Given the description of an element on the screen output the (x, y) to click on. 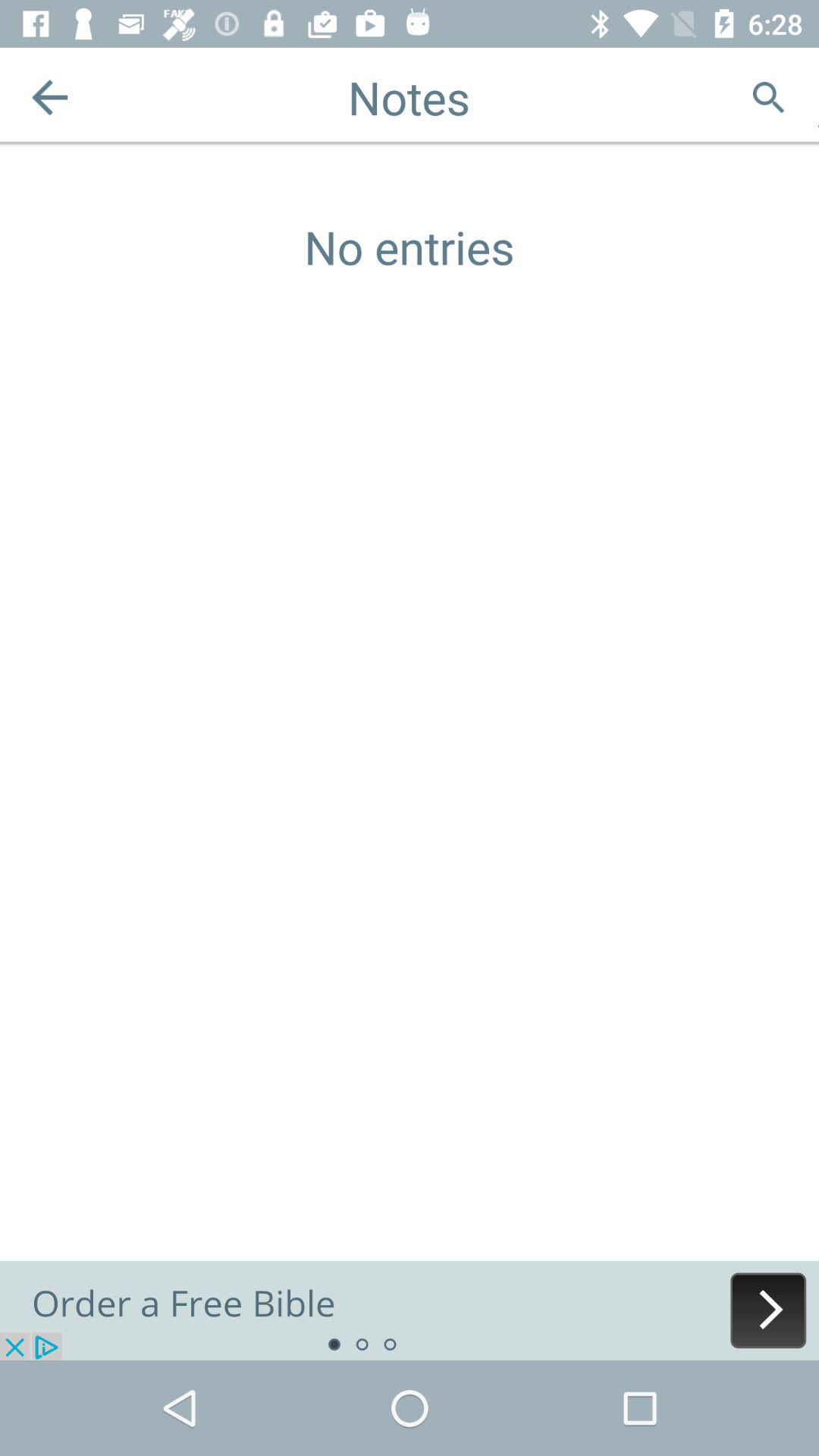
go back (49, 97)
